Given the description of an element on the screen output the (x, y) to click on. 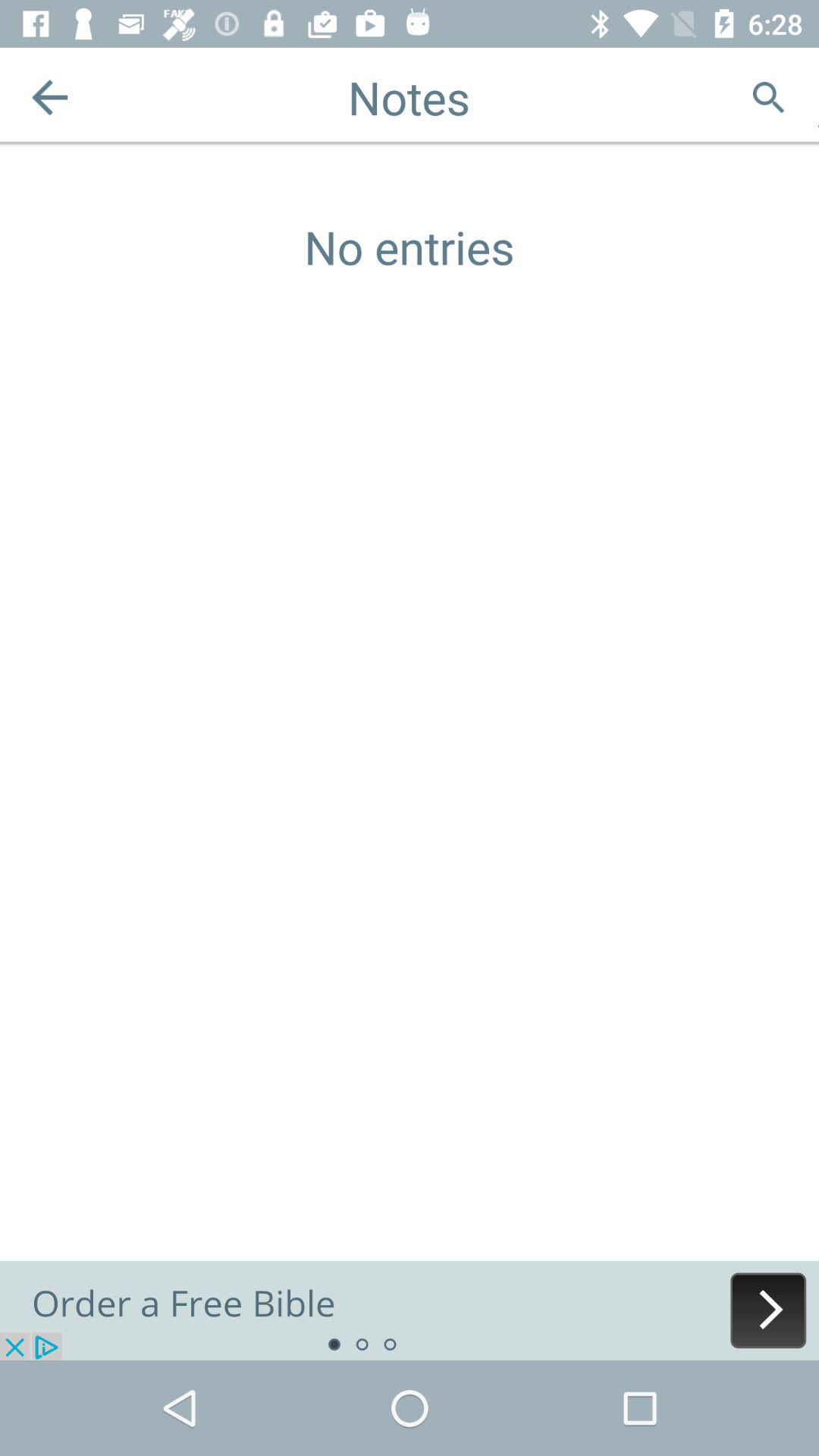
go back (49, 97)
